Given the description of an element on the screen output the (x, y) to click on. 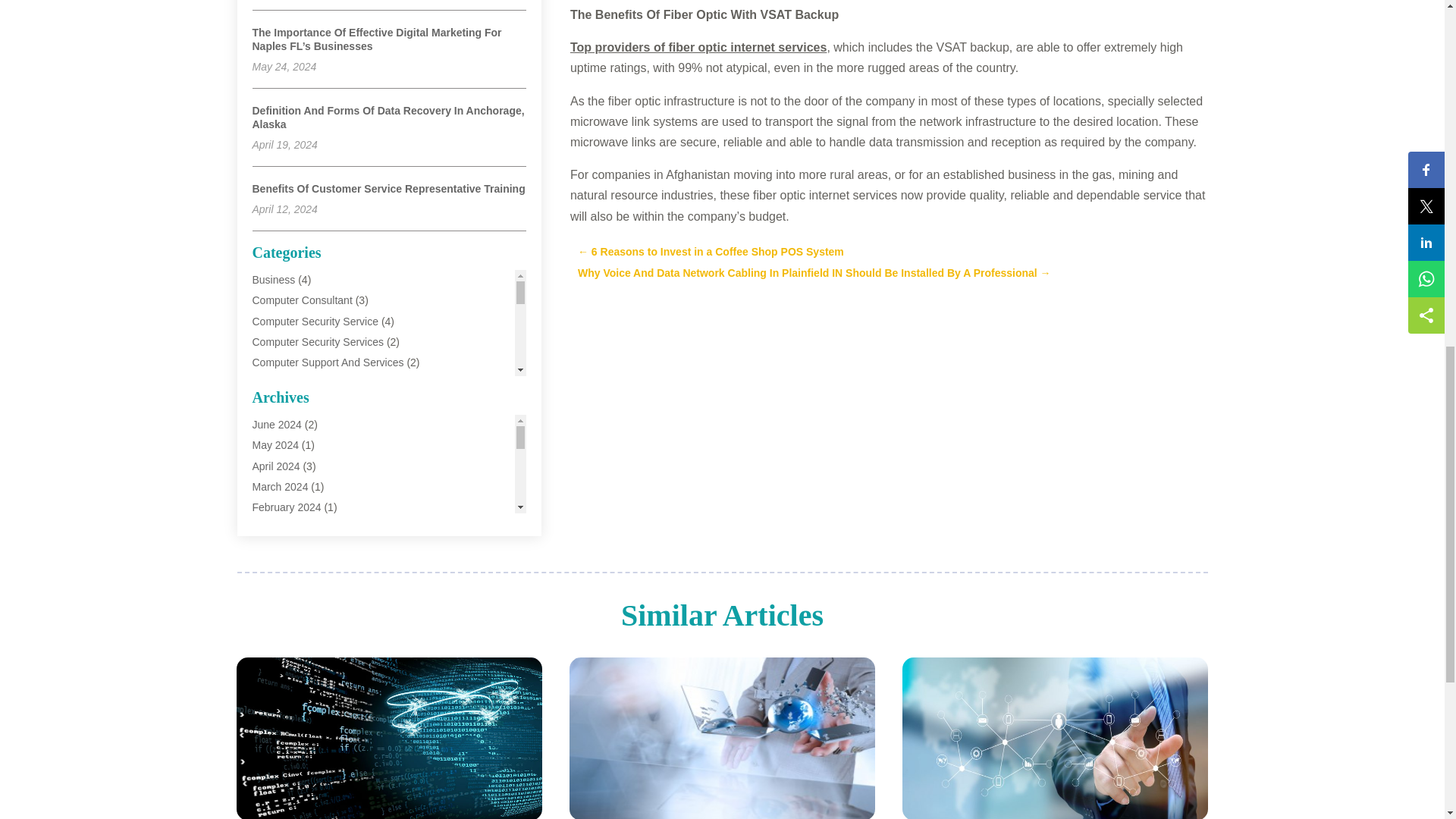
Online Marketing (291, 548)
Supply Chain Management (315, 609)
Computers (276, 382)
Internet Service Provider (309, 506)
IT Support (276, 526)
Computer Support And Services (327, 362)
Web Design (279, 630)
Software Development (305, 589)
Web Development Software (317, 671)
Definition And Forms Of Data Recovery In Anchorage, Alaska (387, 117)
Information Technology And Services (338, 444)
Computer Consultant (301, 300)
Web Hosting (282, 692)
Computer Security Service (314, 321)
Internet Marketing Service (313, 485)
